Given the description of an element on the screen output the (x, y) to click on. 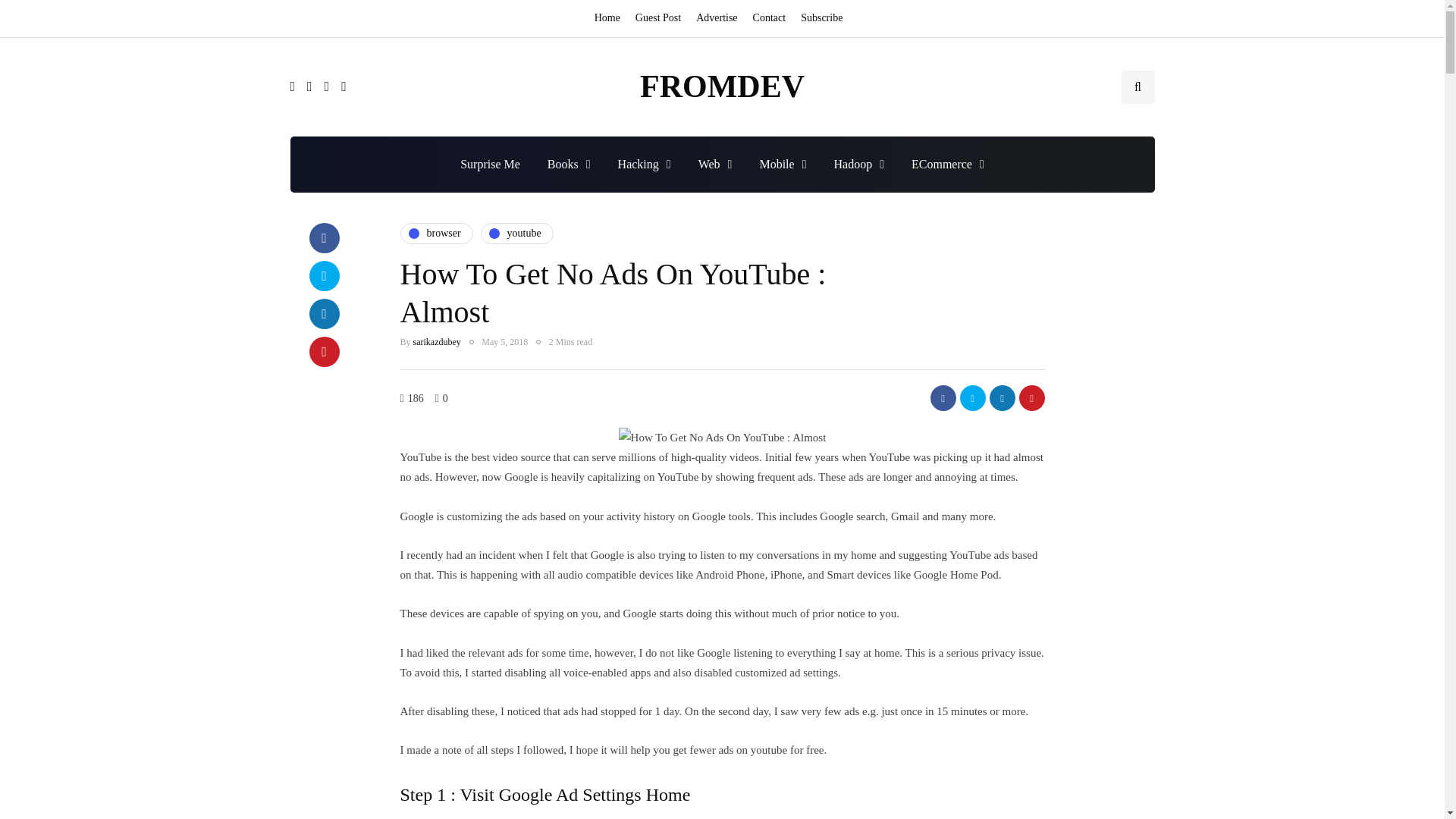
Home (610, 18)
FROMDEV (722, 86)
Surprise Me (490, 163)
Hacking (644, 163)
Mobile (782, 163)
Hadoop (858, 163)
Guest Post (657, 18)
Subscribe (821, 18)
Books (569, 163)
Contact (769, 18)
Web (714, 163)
Advertise (716, 18)
